Given the description of an element on the screen output the (x, y) to click on. 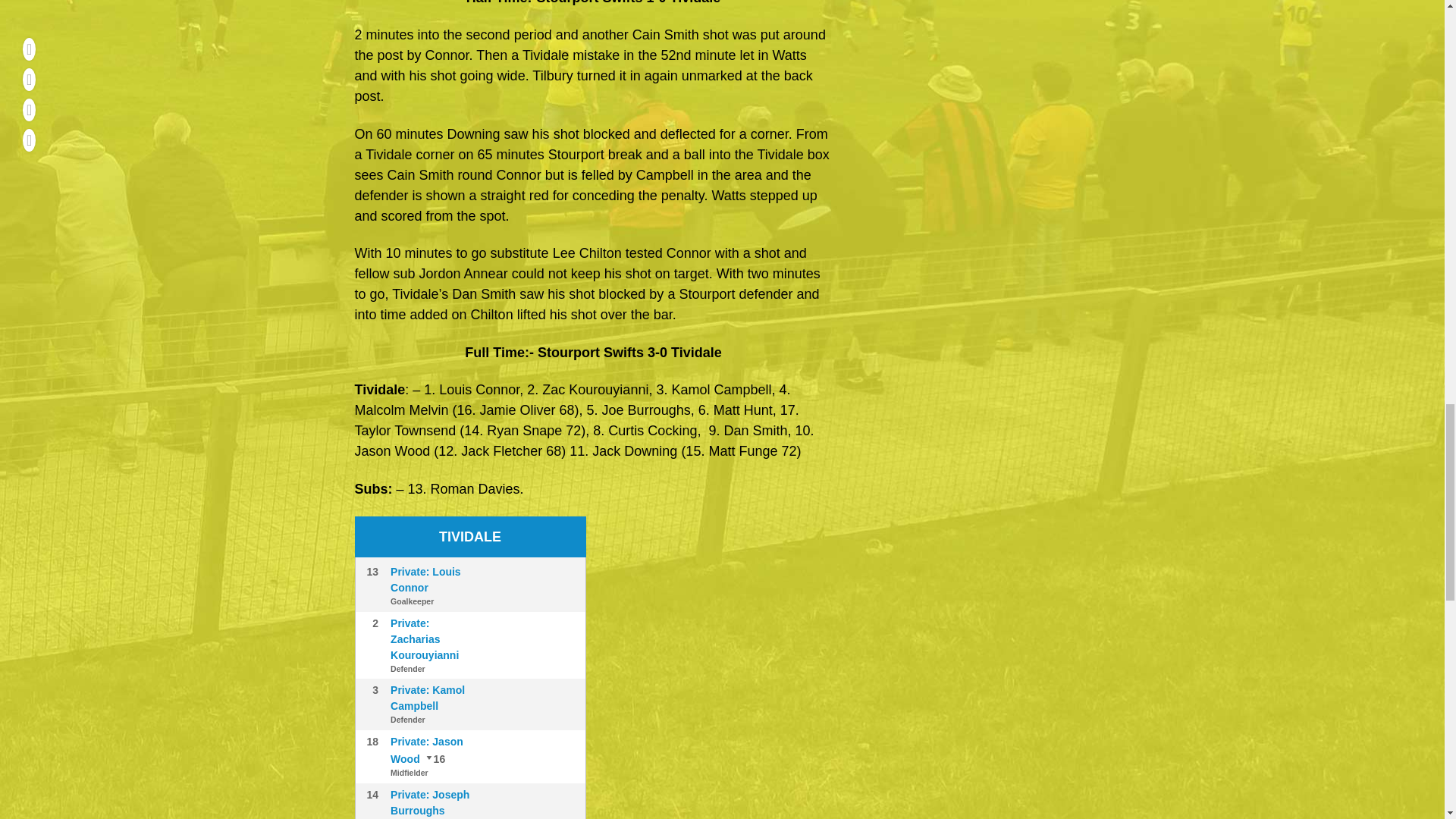
Private: Kamol Campbell (427, 697)
Private: Jack Fletcher (434, 758)
Private: Joseph Burroughs (429, 802)
Private: Louis Connor (425, 579)
Private: Zacharias Kourouyianni (424, 638)
Private: Jason Wood (426, 749)
